Given the description of an element on the screen output the (x, y) to click on. 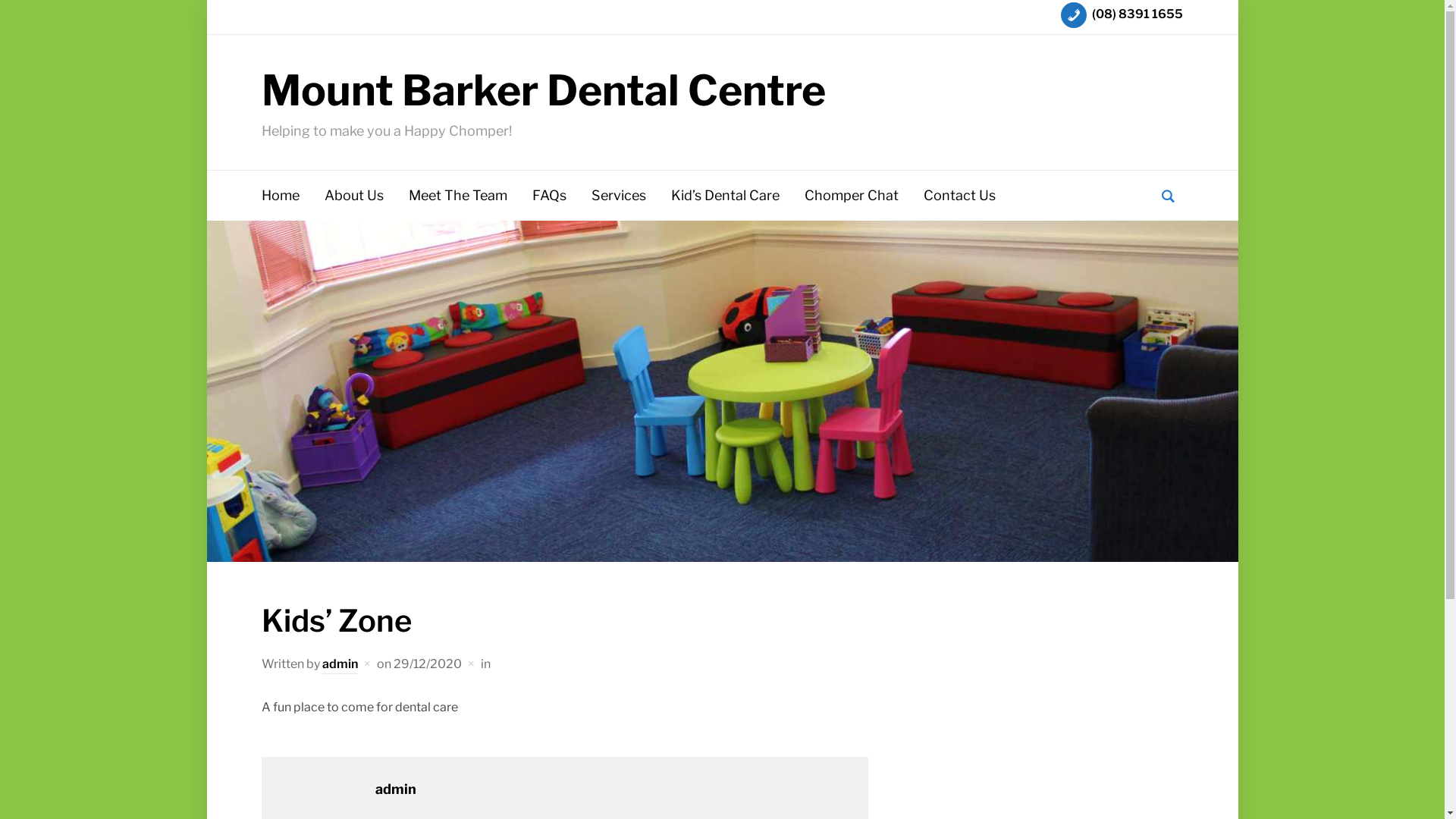
Home Element type: text (280, 195)
FAQs Element type: text (549, 195)
Meet The Team Element type: text (457, 195)
About Us Element type: text (353, 195)
Mount Barker Dental Centre Element type: text (543, 90)
Services Element type: text (618, 195)
admin Element type: text (339, 665)
(08) 8391 1655 Element type: text (1121, 13)
Search Element type: text (1167, 196)
admin Element type: text (395, 789)
Chomper Chat Element type: text (851, 195)
Contact Us Element type: text (959, 195)
